Given the description of an element on the screen output the (x, y) to click on. 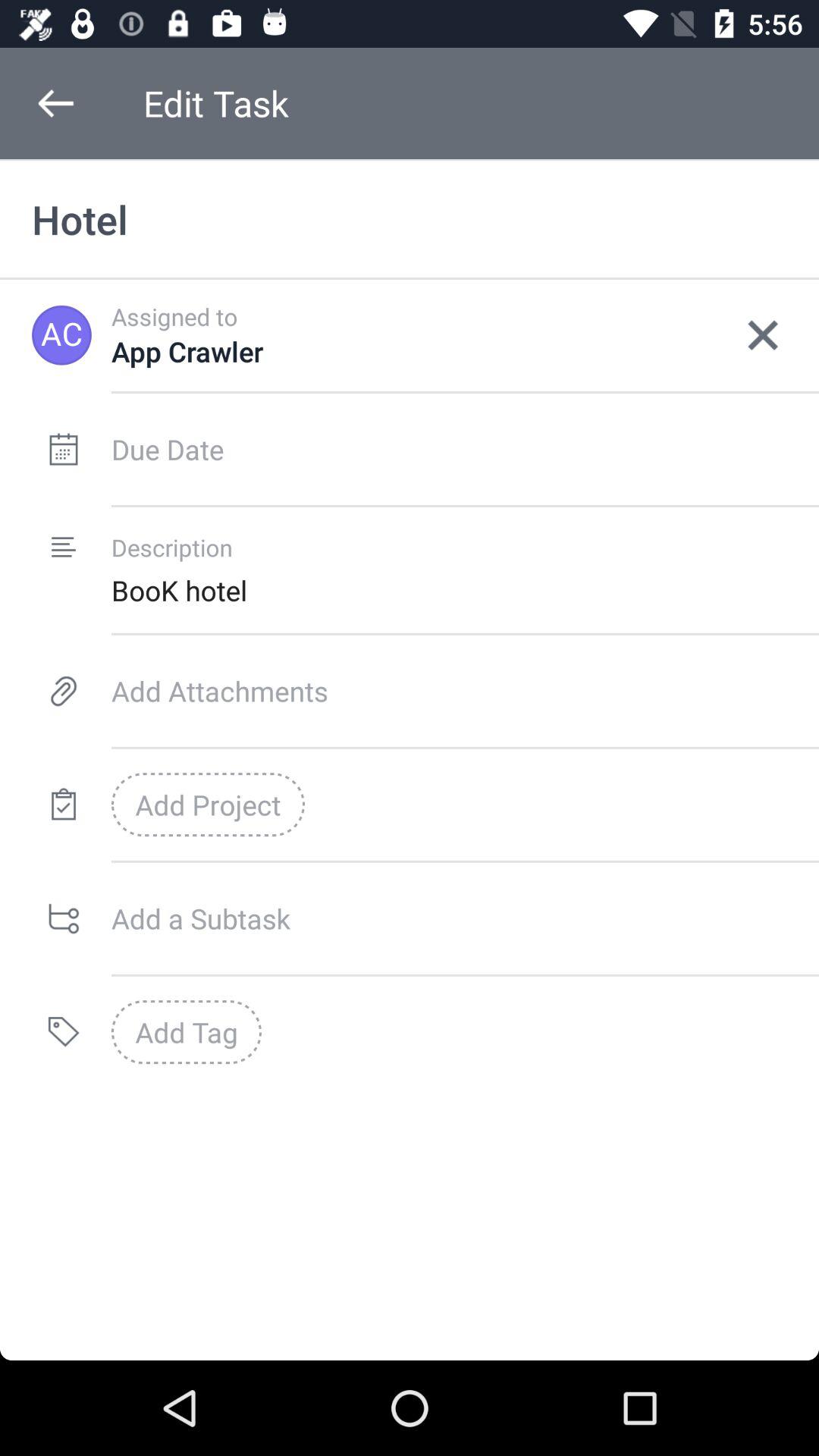
attach documents (465, 690)
